Given the description of an element on the screen output the (x, y) to click on. 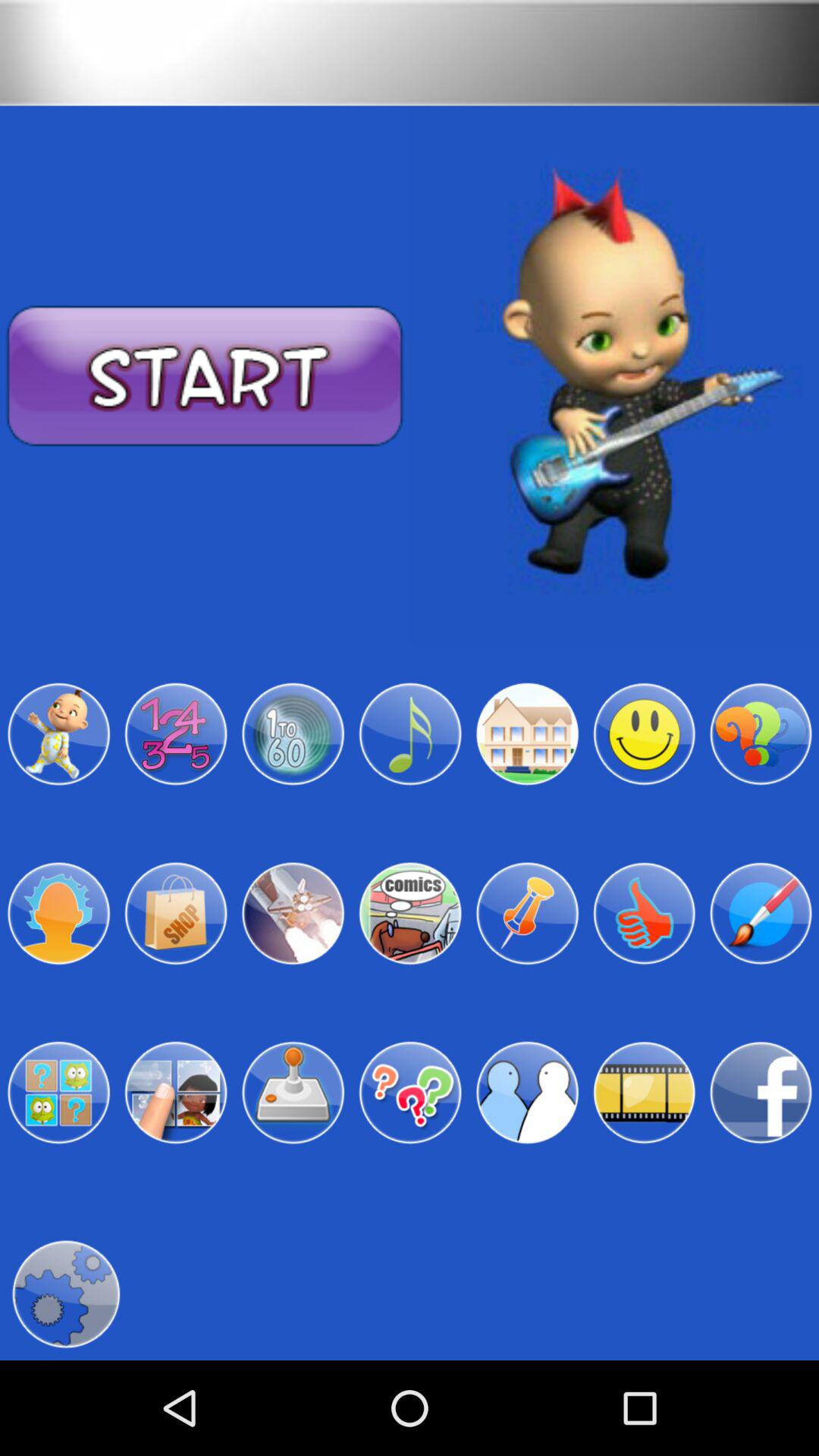
go to comics option (409, 913)
